Given the description of an element on the screen output the (x, y) to click on. 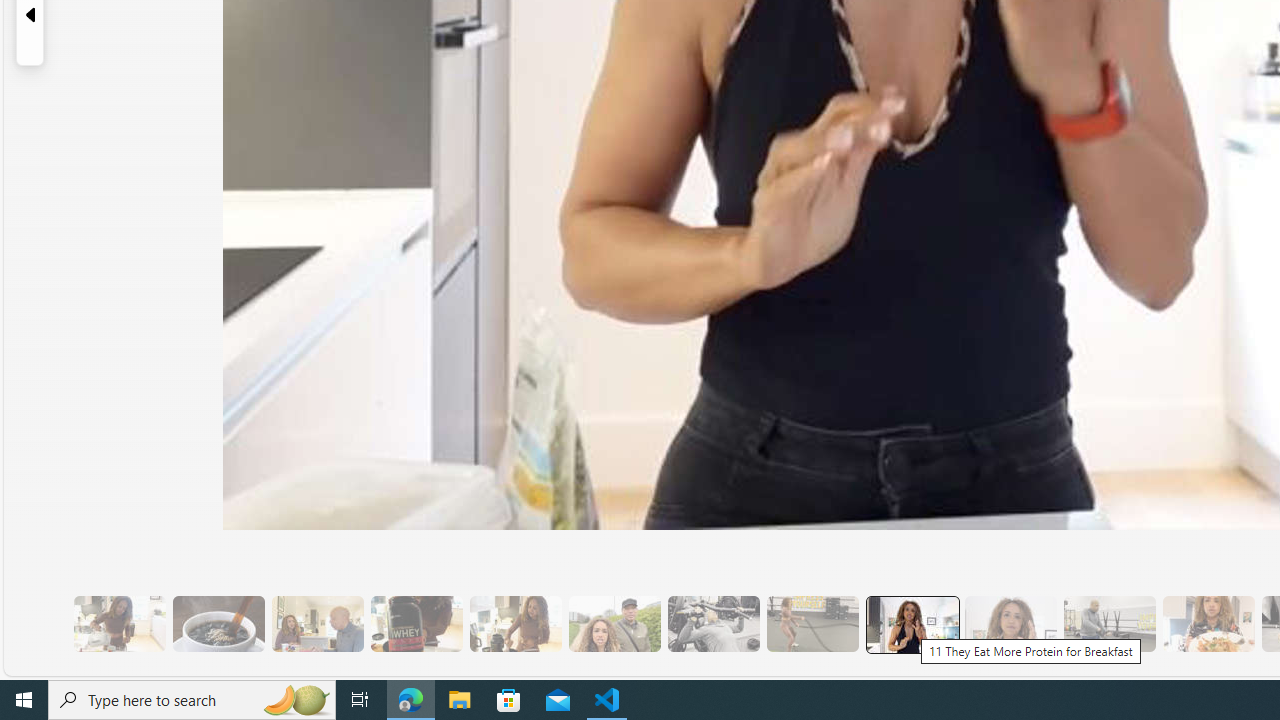
7 They Don't Skip Meals (514, 624)
8 They Walk to the Gym (614, 624)
6 Since Eating More Protein Her Training Has Improved (416, 624)
8 Be Mindful of Coffee (217, 624)
6 Since Eating More Protein Her Training Has Improved (416, 624)
13 Her Husband Does Group Cardio Classs (1108, 624)
14 They Have Salmon and Veggies for Dinner (1208, 624)
8 Be Mindful of Coffee (217, 624)
